Given the description of an element on the screen output the (x, y) to click on. 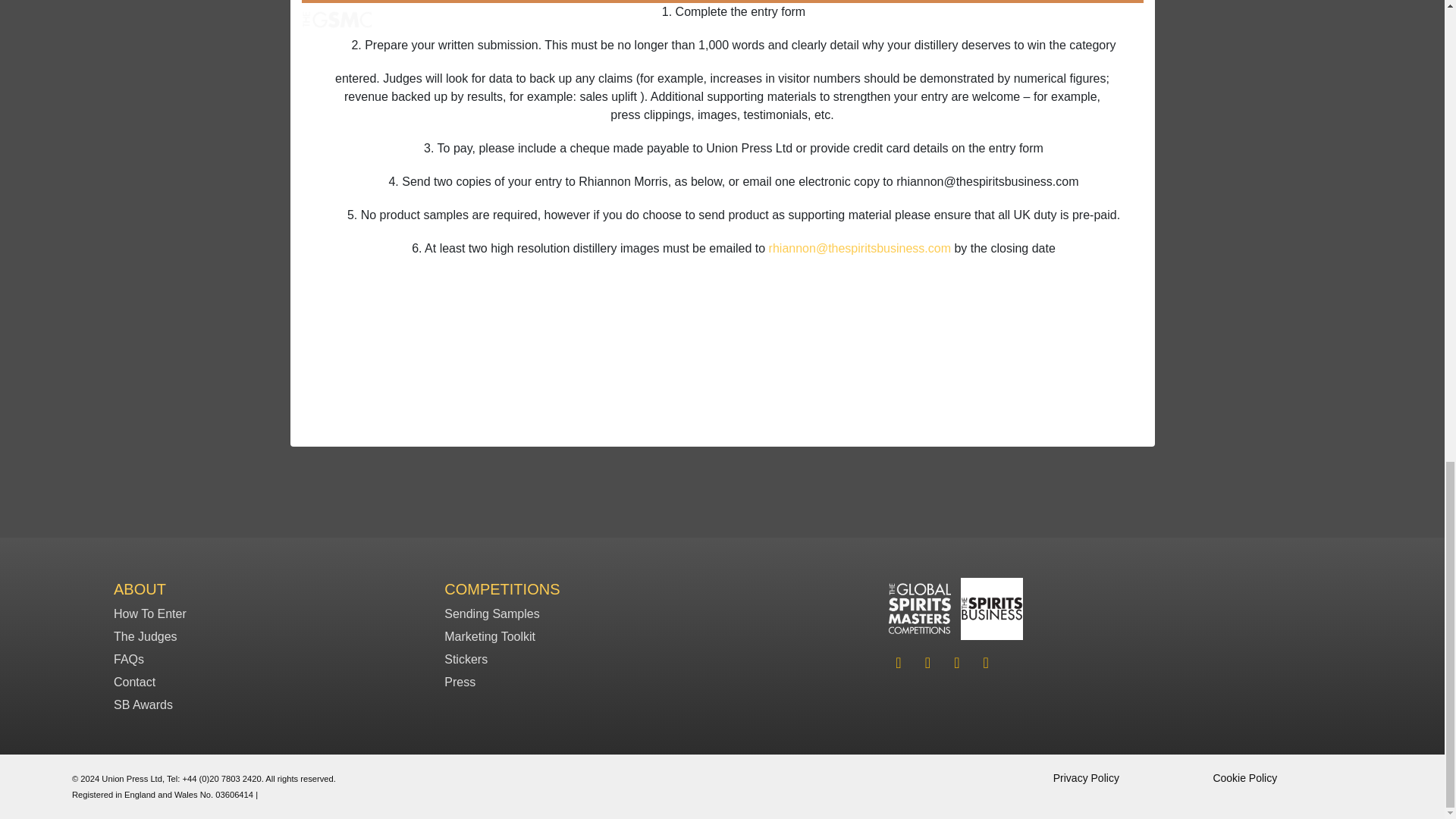
How To Enter (149, 613)
Sending Samples (491, 613)
The Judges (145, 635)
ABOUT (139, 588)
FAQs (128, 658)
Marketing Toolkit (489, 635)
Press (460, 681)
Contact (134, 681)
COMPETITIONS (501, 588)
SB Awards (143, 704)
Stickers (465, 658)
